Given the description of an element on the screen output the (x, y) to click on. 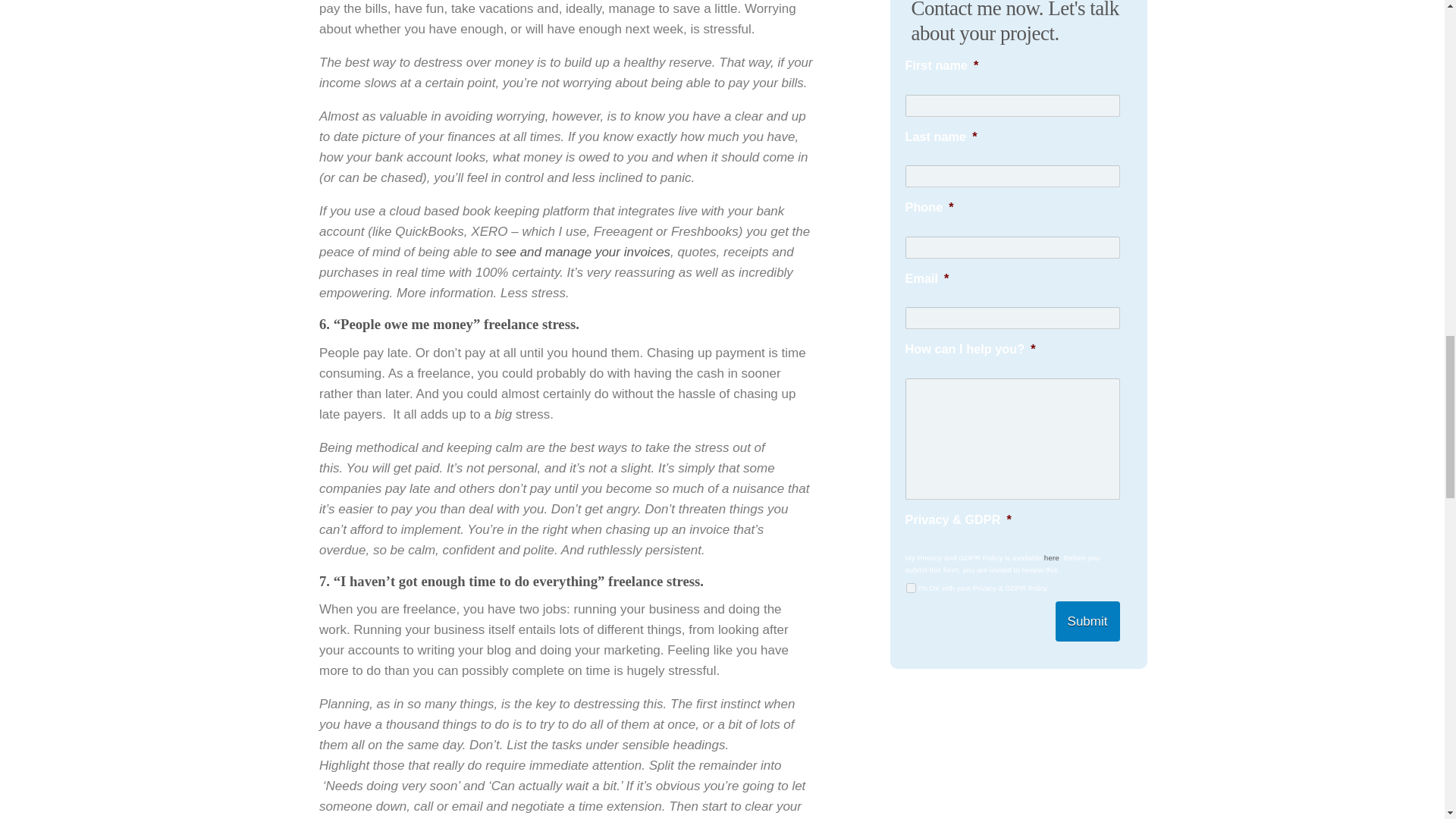
Submit (1087, 621)
